Given the description of an element on the screen output the (x, y) to click on. 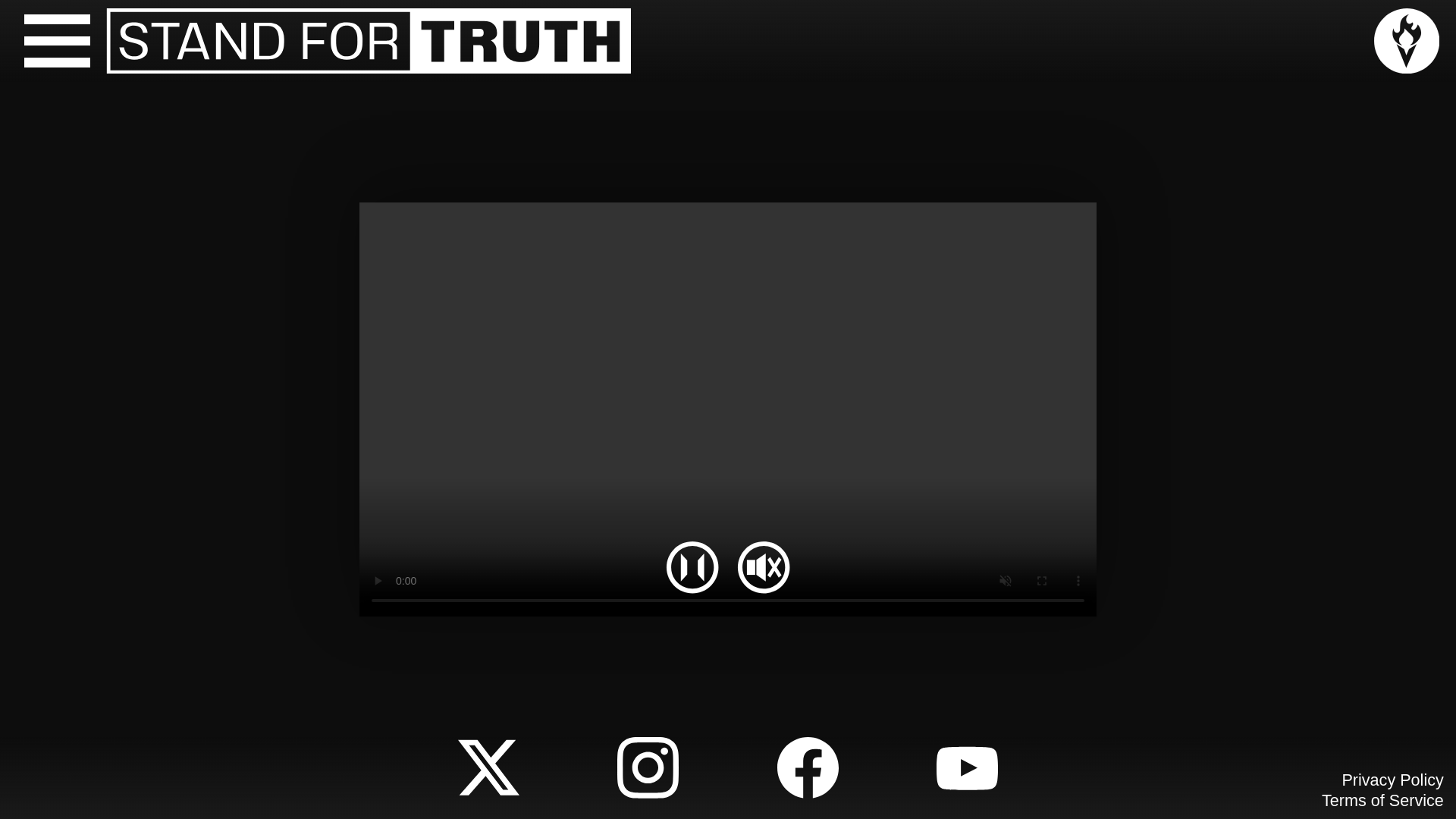
Terms of Service (1383, 800)
Privacy Policy (1391, 780)
